Given the description of an element on the screen output the (x, y) to click on. 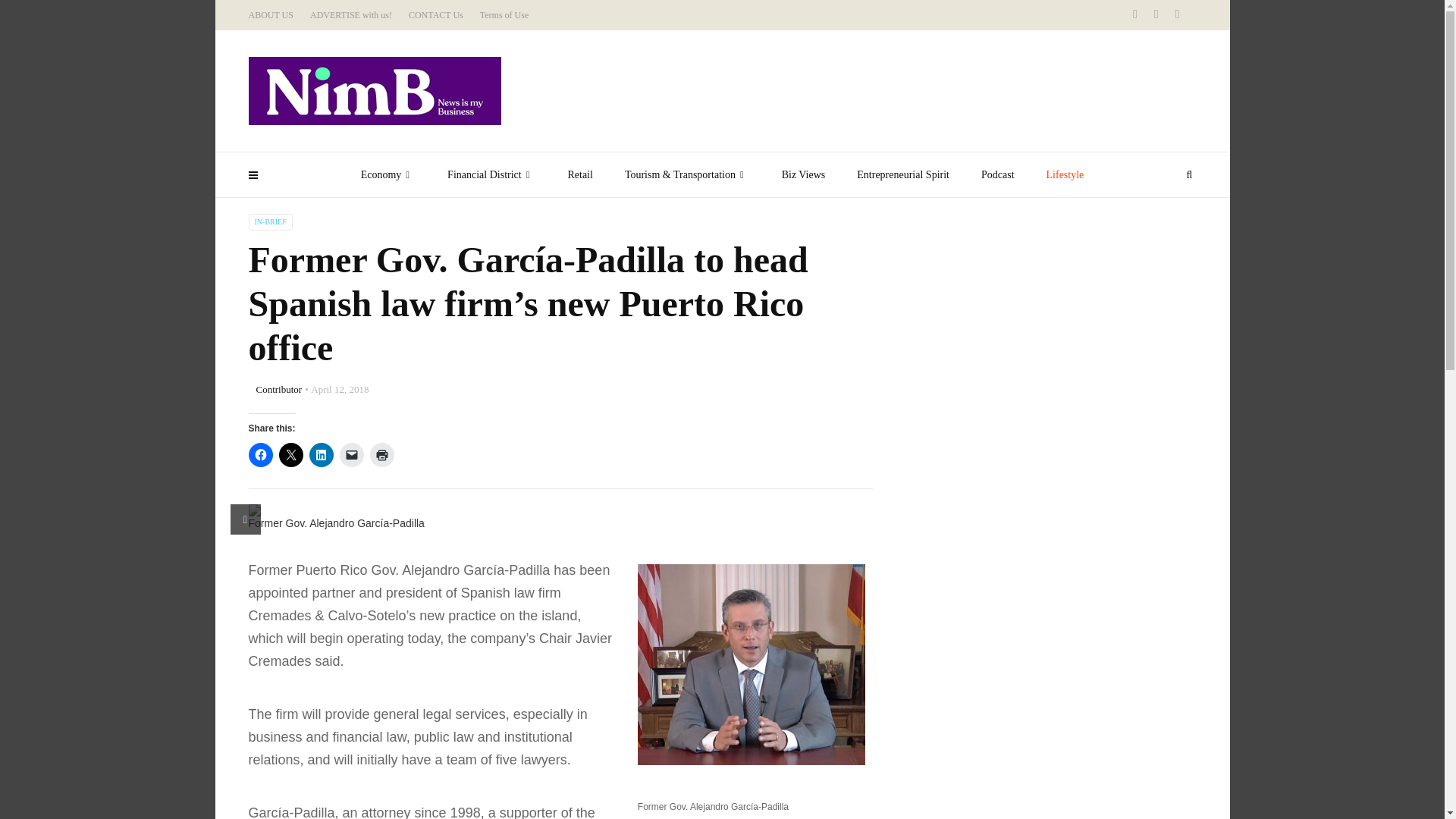
Financial District (490, 174)
ADVERTISE with us! (350, 15)
Click to share on X (290, 454)
Retail (579, 174)
Click to email a link to a friend (351, 454)
Click to share on LinkedIn (320, 454)
Biz Views (803, 174)
Lifestyle (1065, 174)
Click to print (381, 454)
CONTACT Us (436, 15)
Economy (387, 174)
Entrepreneurial Spirit (903, 174)
Click to share on Facebook (260, 454)
ABOUT US (271, 15)
Podcast (997, 174)
